Given the description of an element on the screen output the (x, y) to click on. 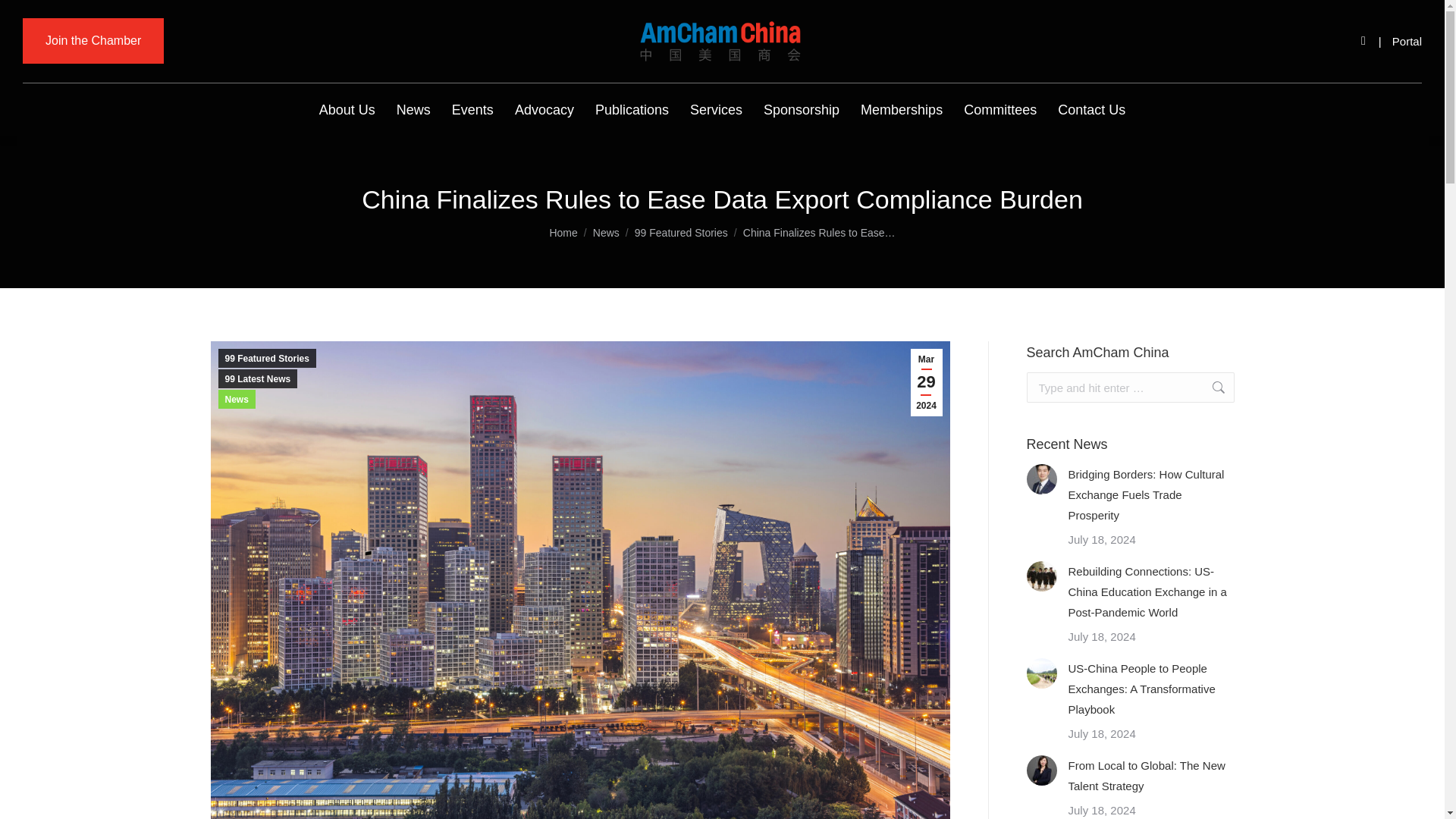
99 Featured Stories (681, 232)
Events (472, 109)
Home (562, 232)
1:39 am (926, 382)
Go! (1210, 387)
Go! (1210, 387)
News (413, 109)
Portal (1406, 41)
News (606, 232)
Advocacy (544, 109)
About Us (346, 109)
Join the Chamber (93, 40)
Go! (24, 16)
